Given the description of an element on the screen output the (x, y) to click on. 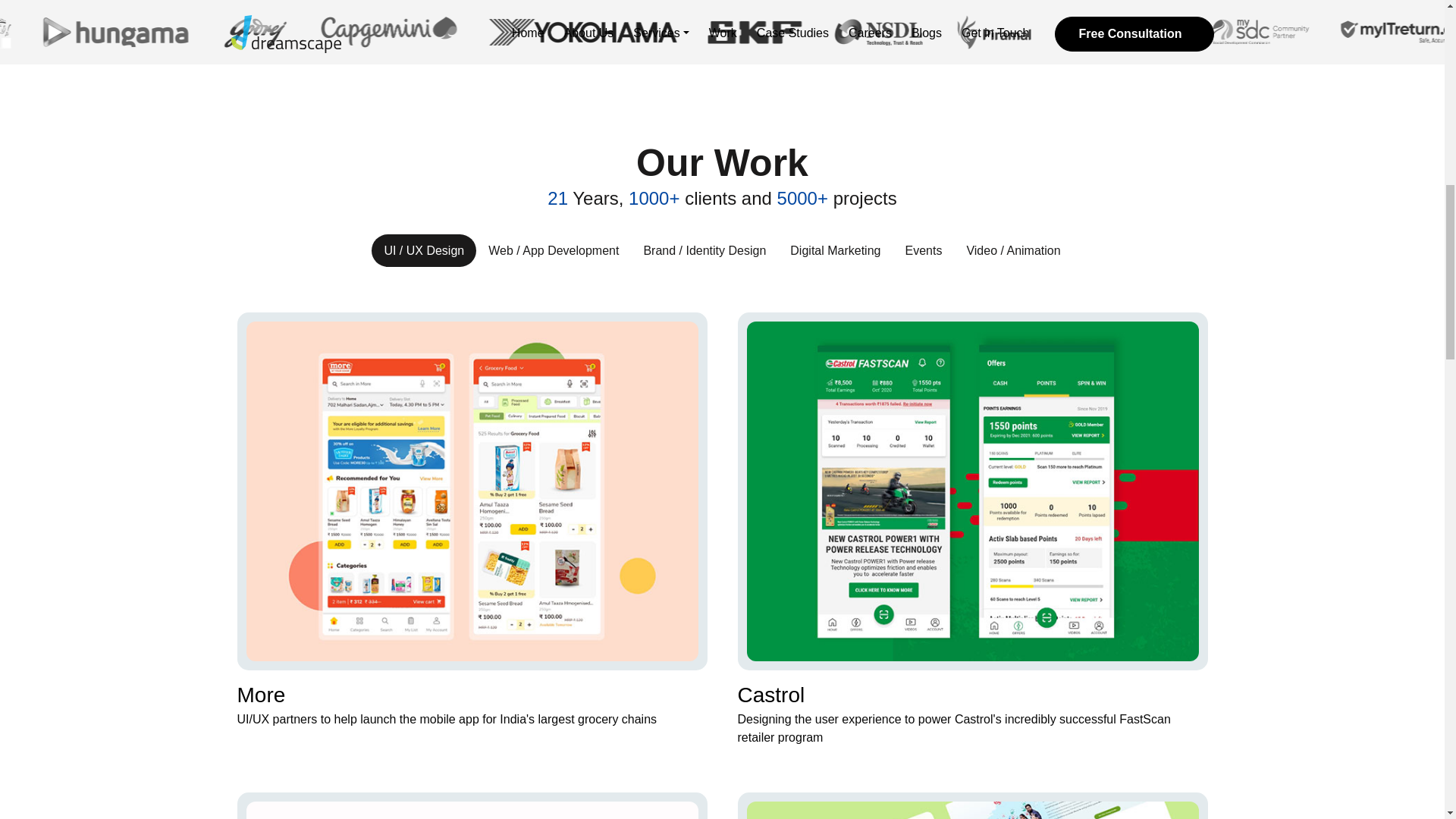
Piramal Foundation (1227, 32)
Deshpande Foundation (1353, 32)
Events (922, 250)
Digital Marketing (834, 250)
SKF (993, 32)
Godrej (499, 32)
Bharat Bijlee (29, 32)
Yokohama (823, 32)
Hungama (360, 32)
